Given the description of an element on the screen output the (x, y) to click on. 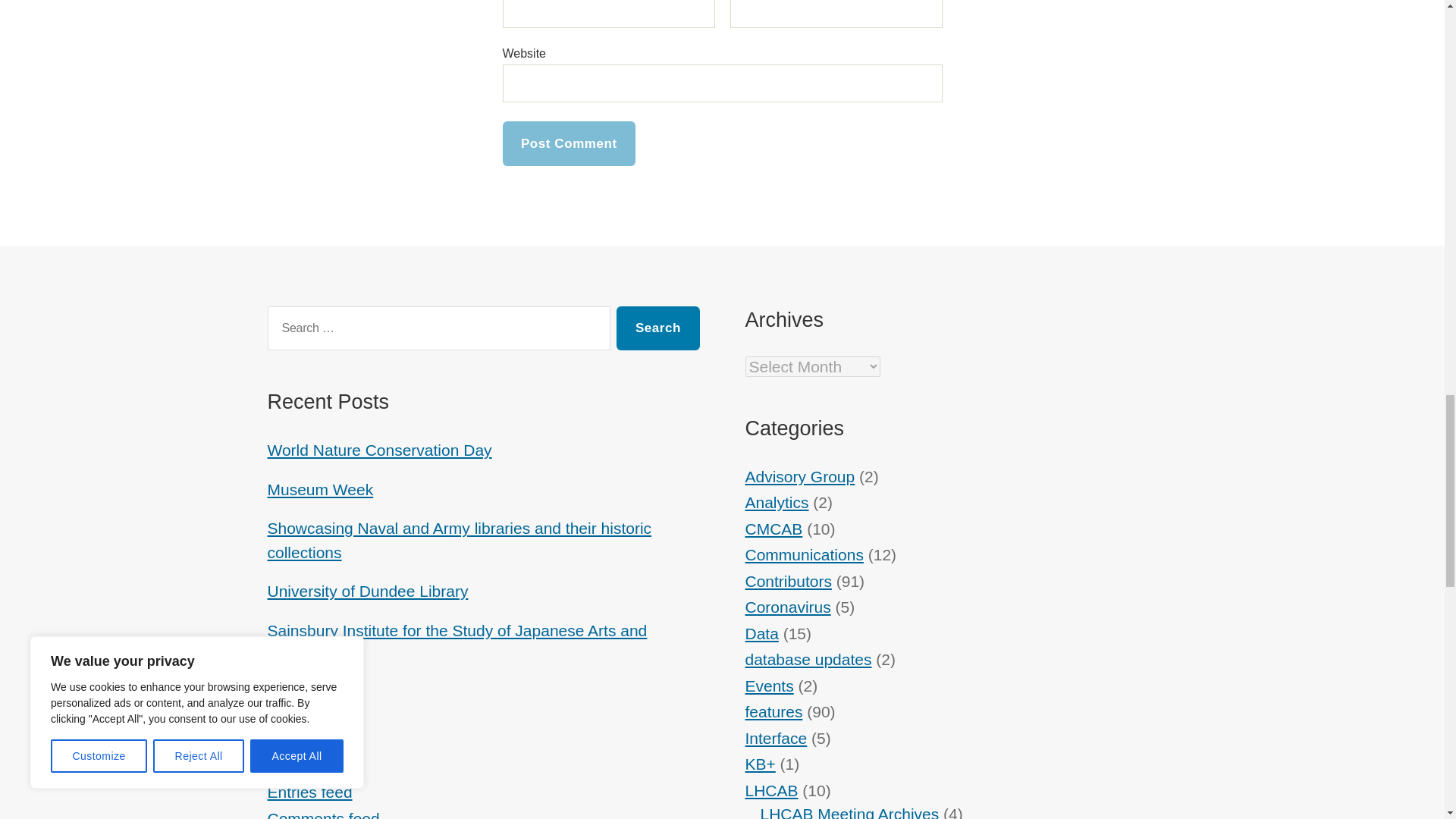
Search (656, 328)
Post Comment (568, 143)
Search (656, 328)
